Given the description of an element on the screen output the (x, y) to click on. 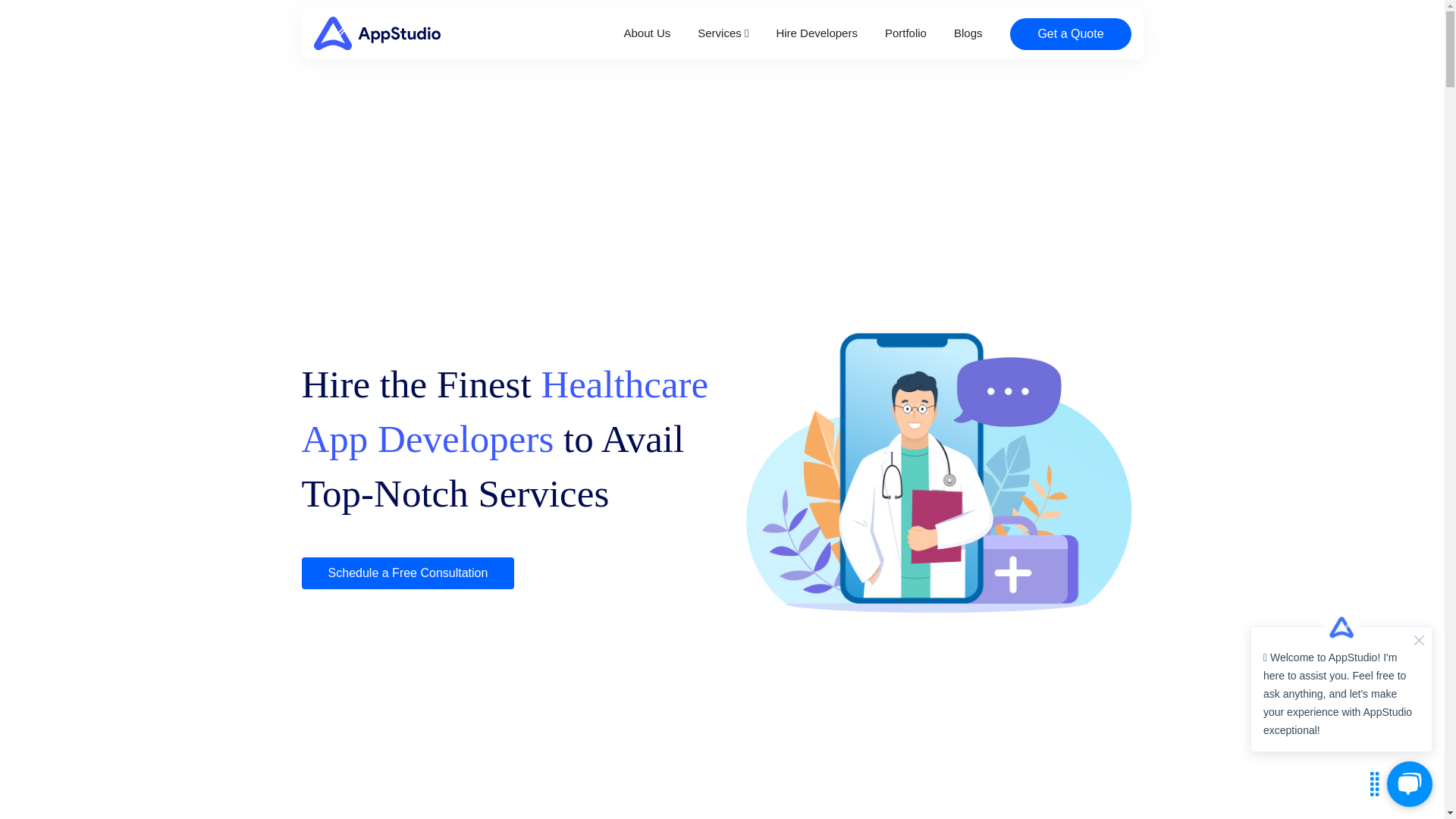
Embedded CTA (407, 572)
Blogs (967, 32)
Portfolio (905, 32)
Hire Developers (816, 32)
Embedded CTA (1070, 34)
About Us (647, 32)
Services (722, 32)
